Given the description of an element on the screen output the (x, y) to click on. 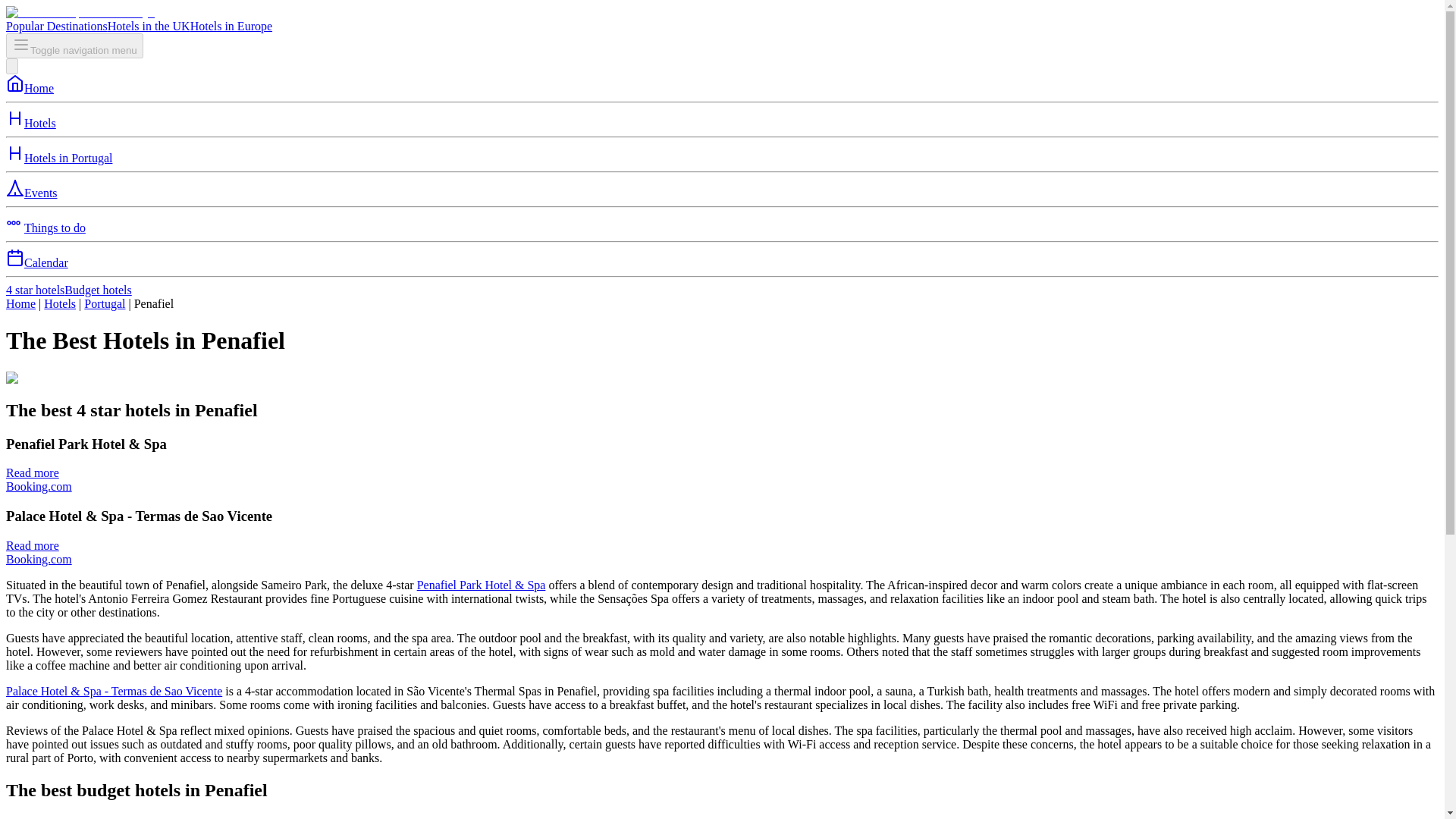
Portugal (104, 303)
Booking.com (38, 486)
Home (19, 303)
Booking.com (38, 558)
Hotels (59, 303)
Read more (32, 472)
Toggle navigation menu (73, 45)
Hotels in the UK (148, 25)
Hotels in Europe (231, 25)
Read more (32, 545)
